Given the description of an element on the screen output the (x, y) to click on. 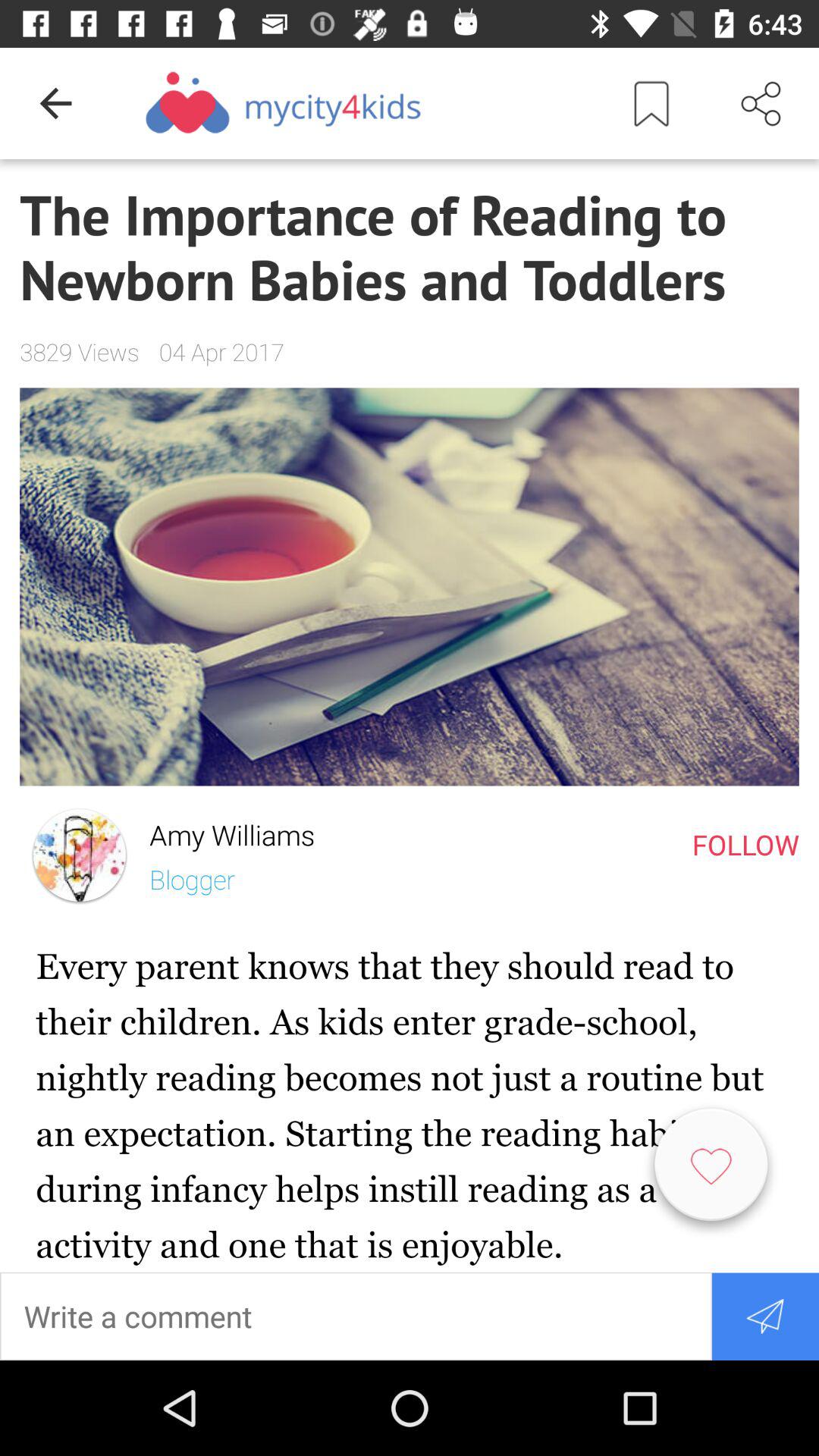
add favorite (710, 1170)
